Given the description of an element on the screen output the (x, y) to click on. 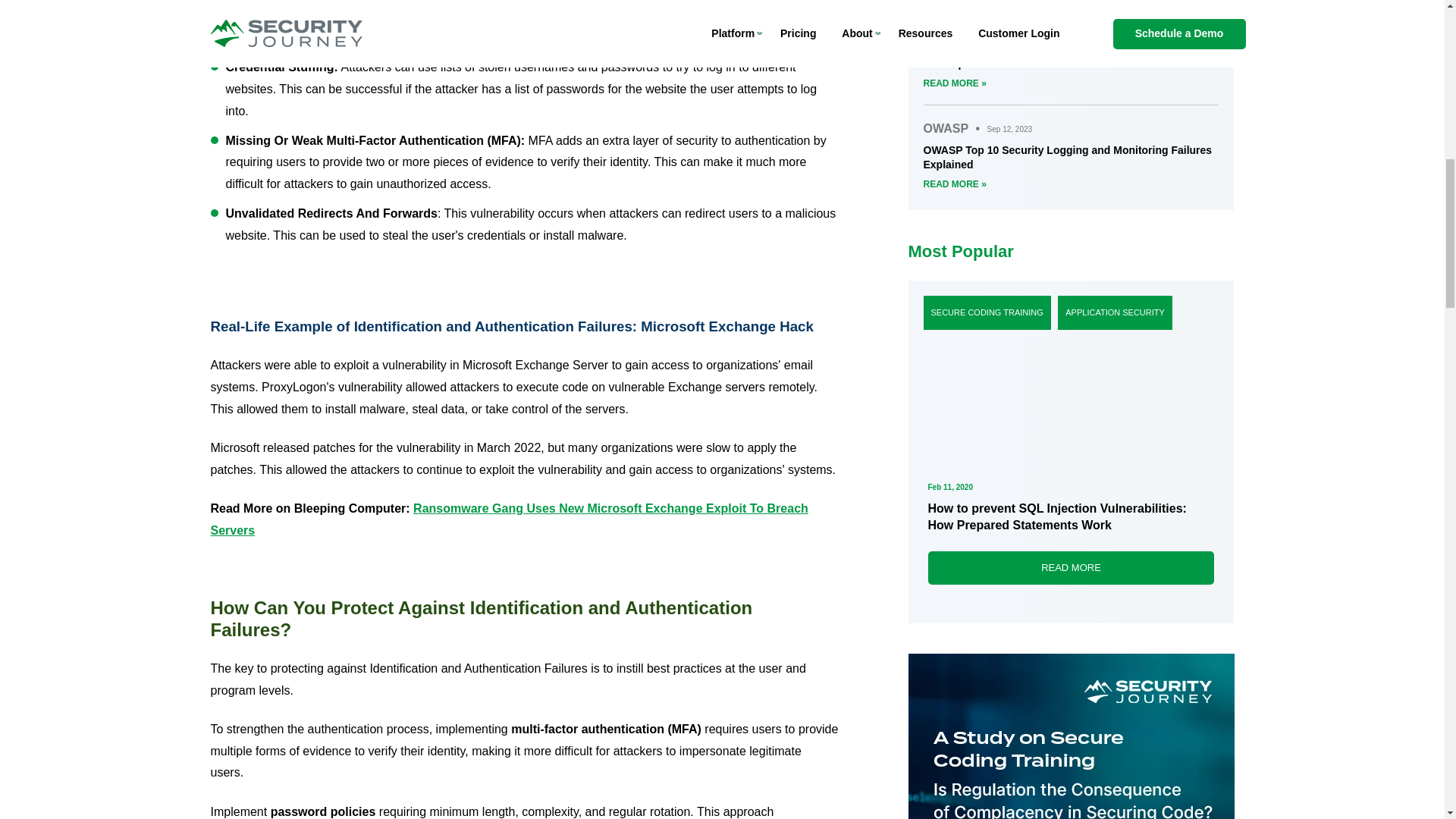
Embedded CTA (1071, 736)
